Given the description of an element on the screen output the (x, y) to click on. 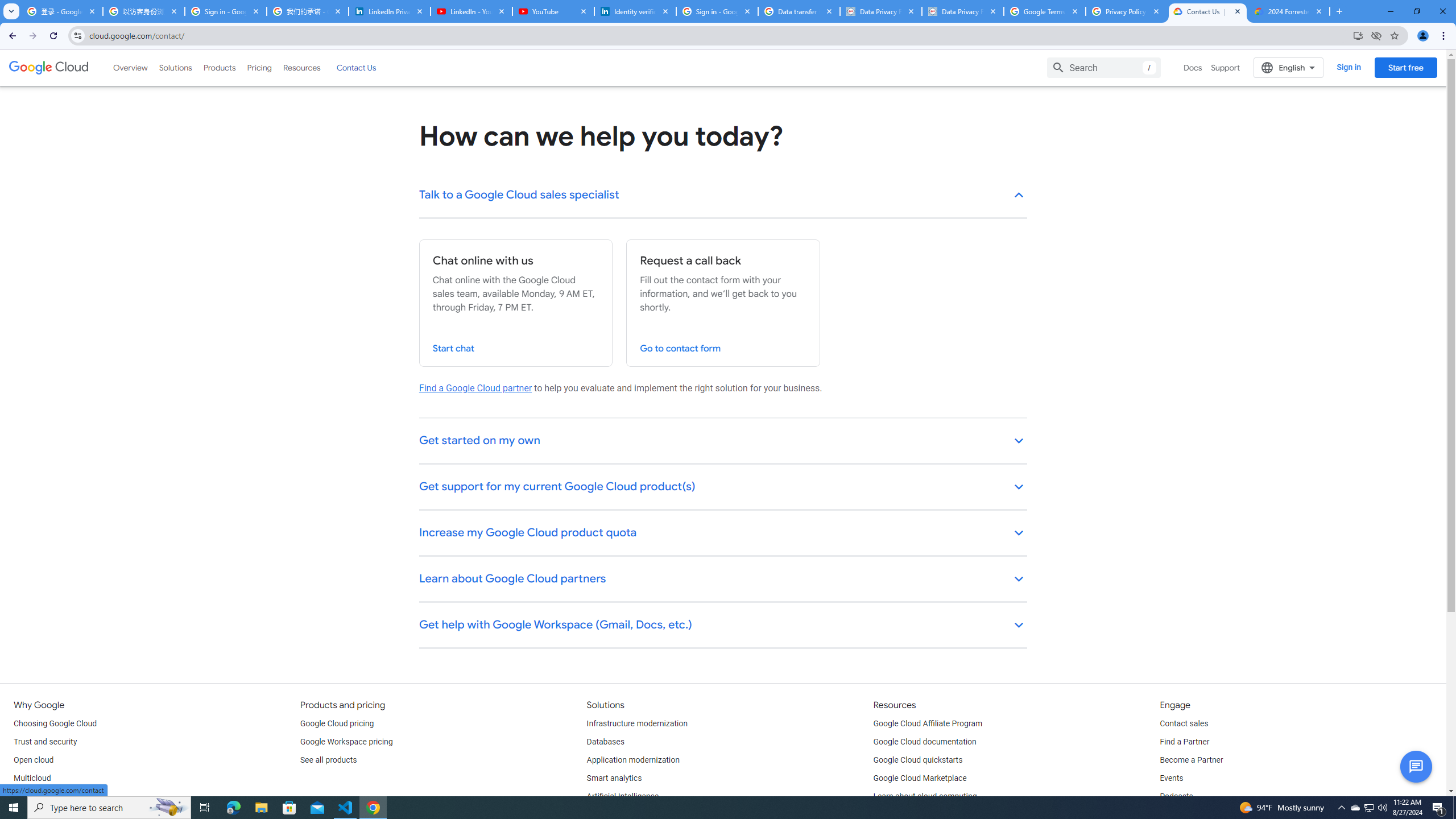
Google Cloud Marketplace (919, 778)
Databases (605, 742)
Data Privacy Framework (880, 11)
Install Google Cloud (1358, 35)
Button to activate chat (1416, 766)
Google Cloud documentation (924, 742)
See all products (327, 760)
Sign in - Google Accounts (716, 11)
Get started on my own keyboard_arrow_down (723, 441)
